Given the description of an element on the screen output the (x, y) to click on. 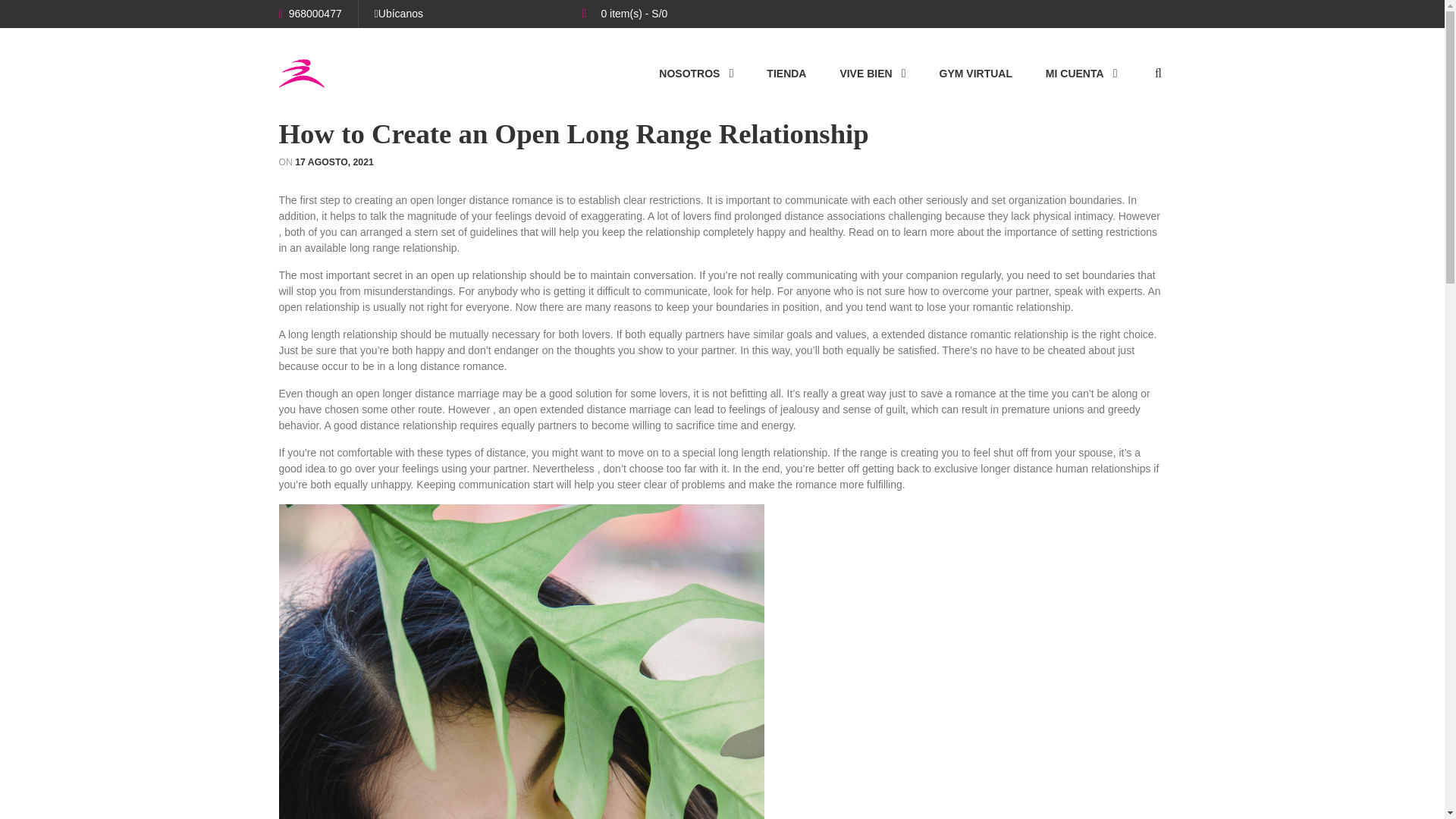
968000477 (310, 13)
GYM VIRTUAL (975, 73)
Comunidad FIT (301, 73)
MI CUENTA (1081, 73)
VIVE BIEN (872, 73)
VIVE BIEN (872, 73)
NOSOTROS (696, 73)
17 AGOSTO, 2021 (334, 162)
GYM VIRTUAL (975, 73)
